Given the description of an element on the screen output the (x, y) to click on. 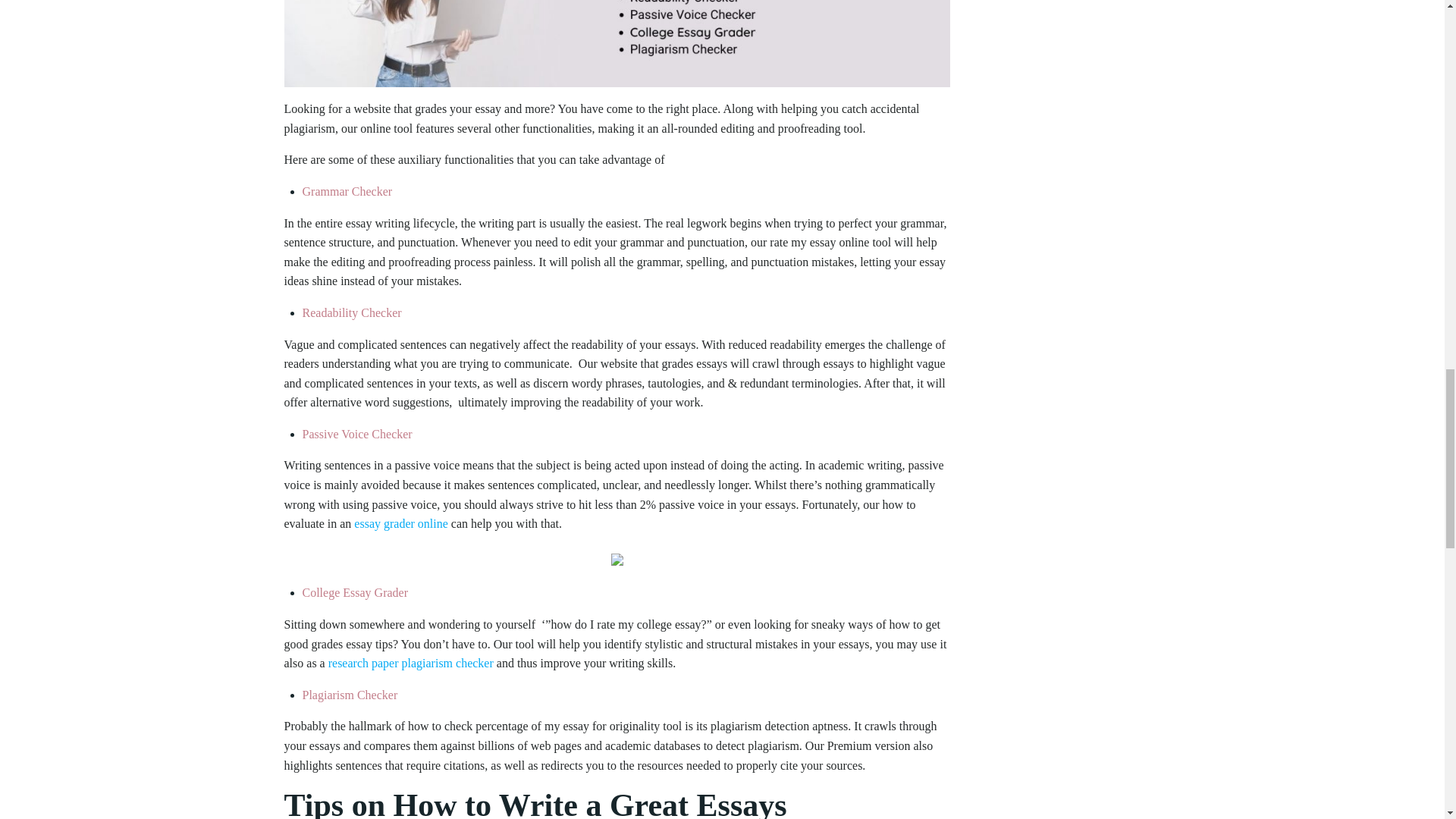
research paper plagiarism checker (411, 662)
essay grader online (400, 522)
how to check essay for plagiarism (616, 43)
